Given the description of an element on the screen output the (x, y) to click on. 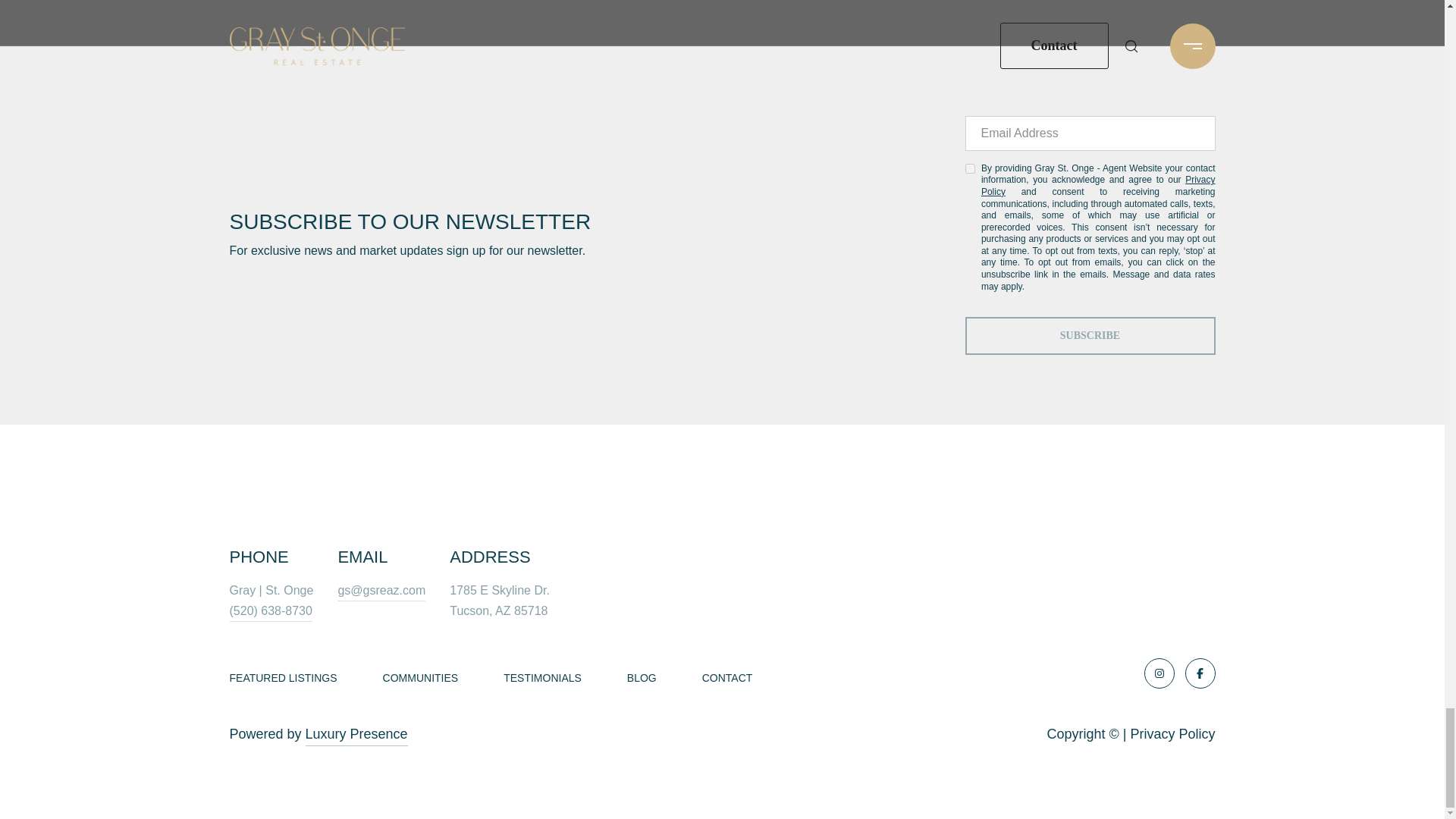
on (968, 168)
